Given the description of an element on the screen output the (x, y) to click on. 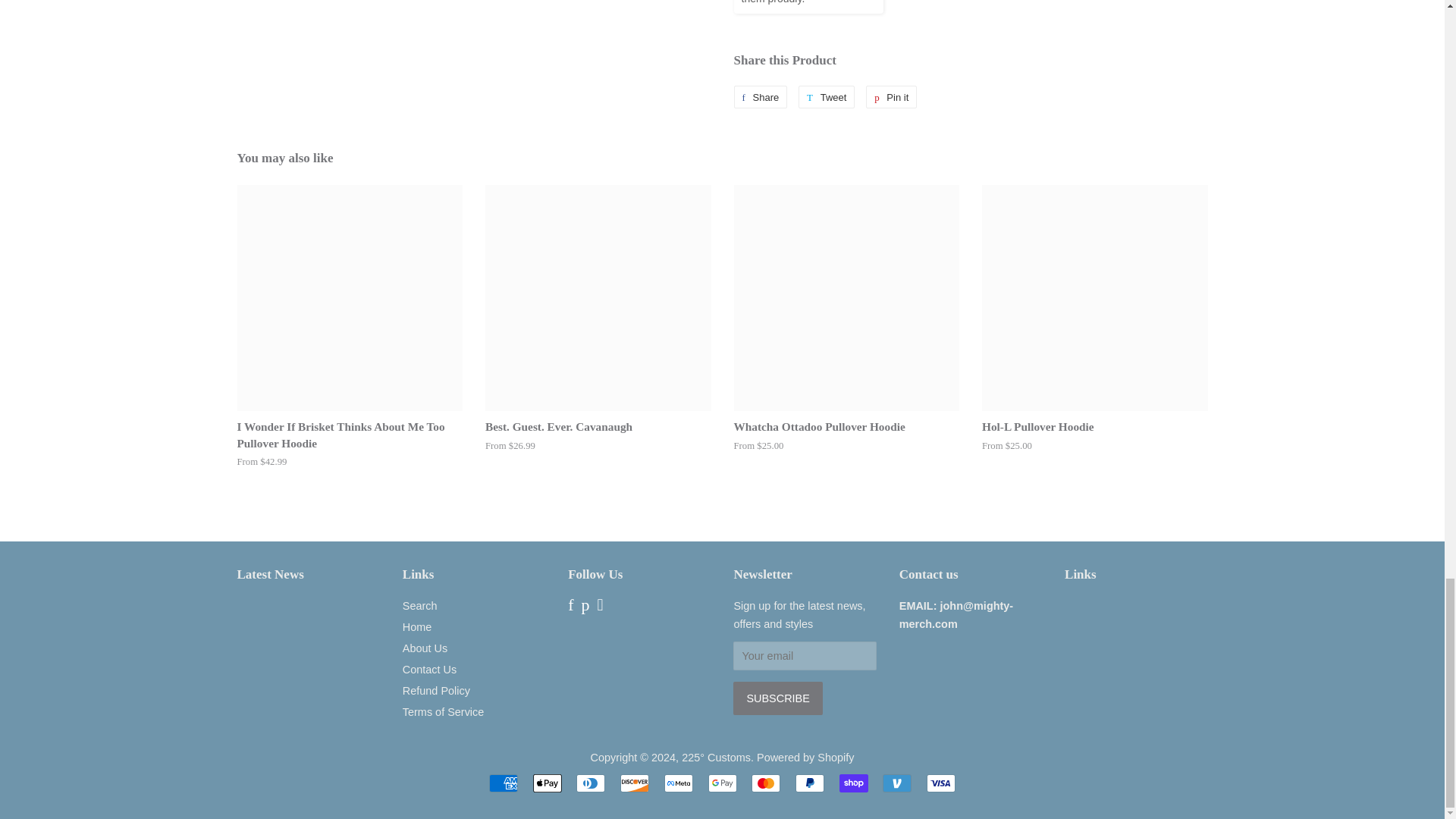
Tweet on Twitter (825, 96)
Subscribe (777, 697)
Pin on Pinterest (891, 96)
Share on Facebook (760, 96)
